Given the description of an element on the screen output the (x, y) to click on. 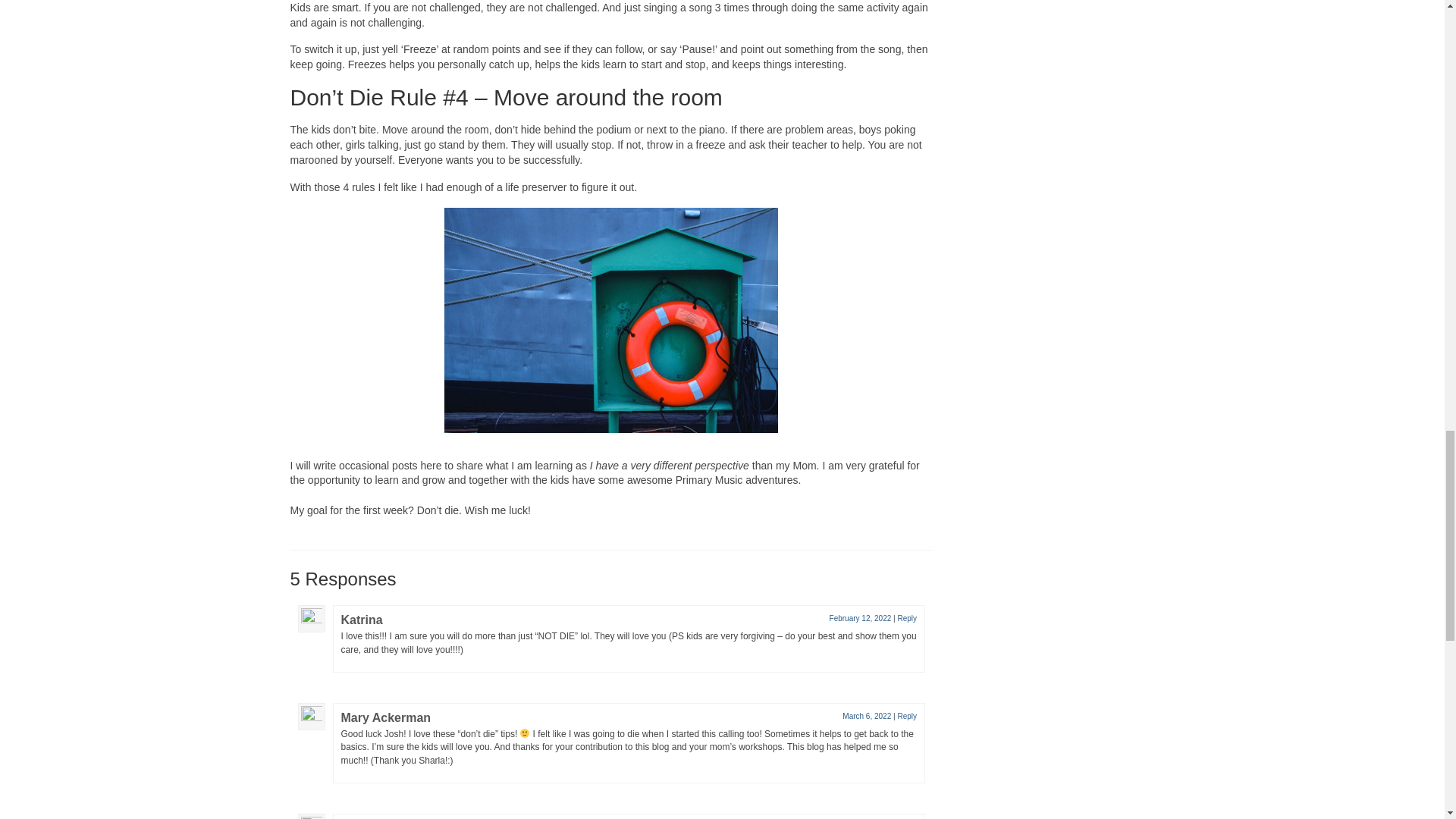
February 12, 2022 (860, 618)
Reply (906, 618)
Reply (906, 715)
March 6, 2022 (867, 715)
